Given the description of an element on the screen output the (x, y) to click on. 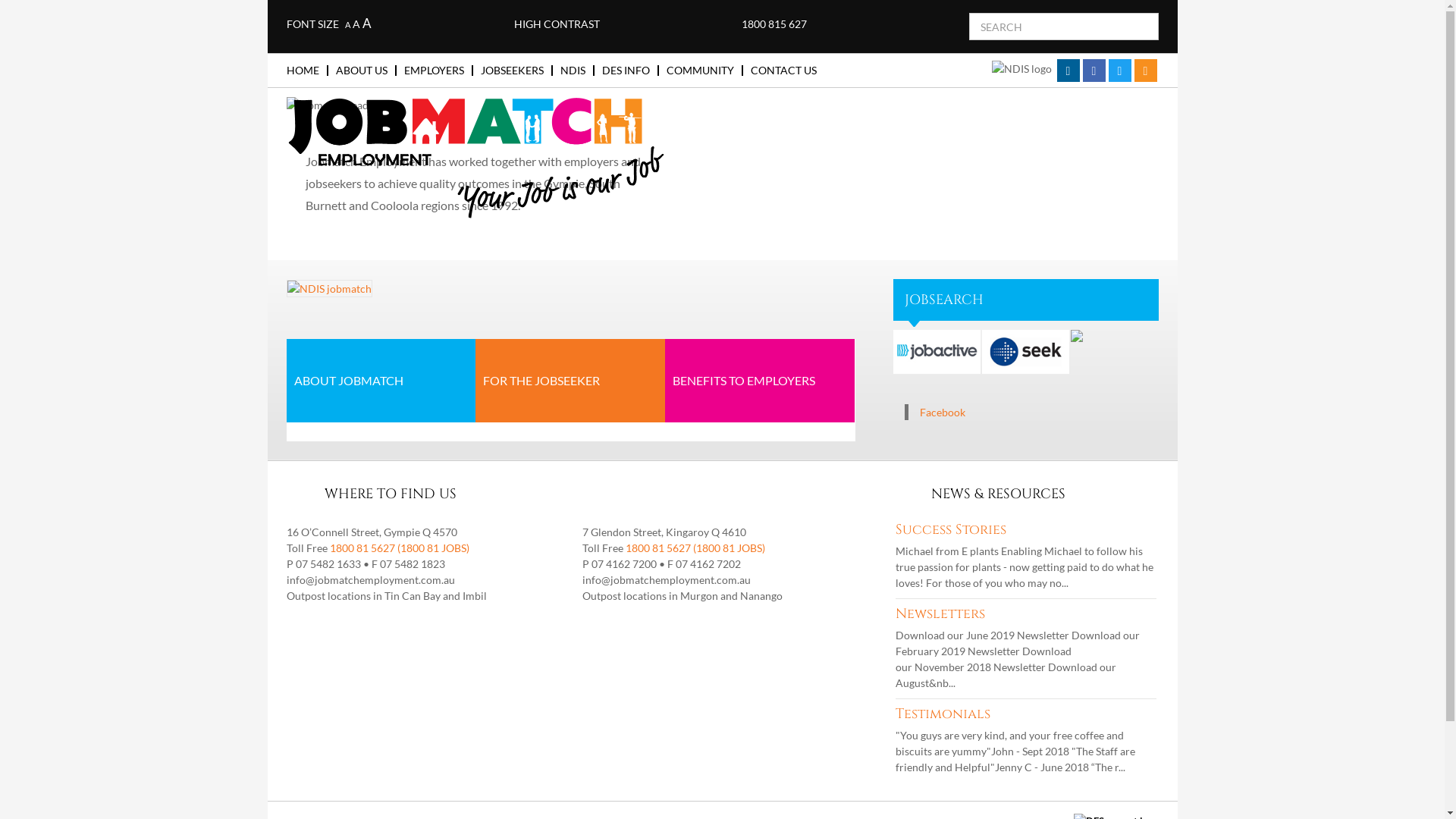
HIGH CONTRAST Element type: text (556, 23)
Success Stories Element type: text (949, 529)
A Element type: text (355, 23)
JOBSEEKERS Element type: text (516, 70)
Facebook Element type: text (941, 411)
A Element type: text (366, 23)
1800 81 5627 (1800 81 JOBS) Element type: text (694, 547)
ABOUT US Element type: text (365, 70)
NDIS Element type: text (576, 70)
EMPLOYERS Element type: text (437, 70)
Testimonials Element type: text (941, 713)
HOME Element type: text (307, 70)
1800 81 5627 (1800 81 JOBS) Element type: text (398, 547)
COMMUNITY Element type: text (703, 70)
A Element type: text (346, 24)
Newsletters Element type: text (939, 613)
CONTACT US Element type: text (783, 70)
DES INFO Element type: text (630, 70)
1800 815 627 Element type: text (773, 23)
